Given the description of an element on the screen output the (x, y) to click on. 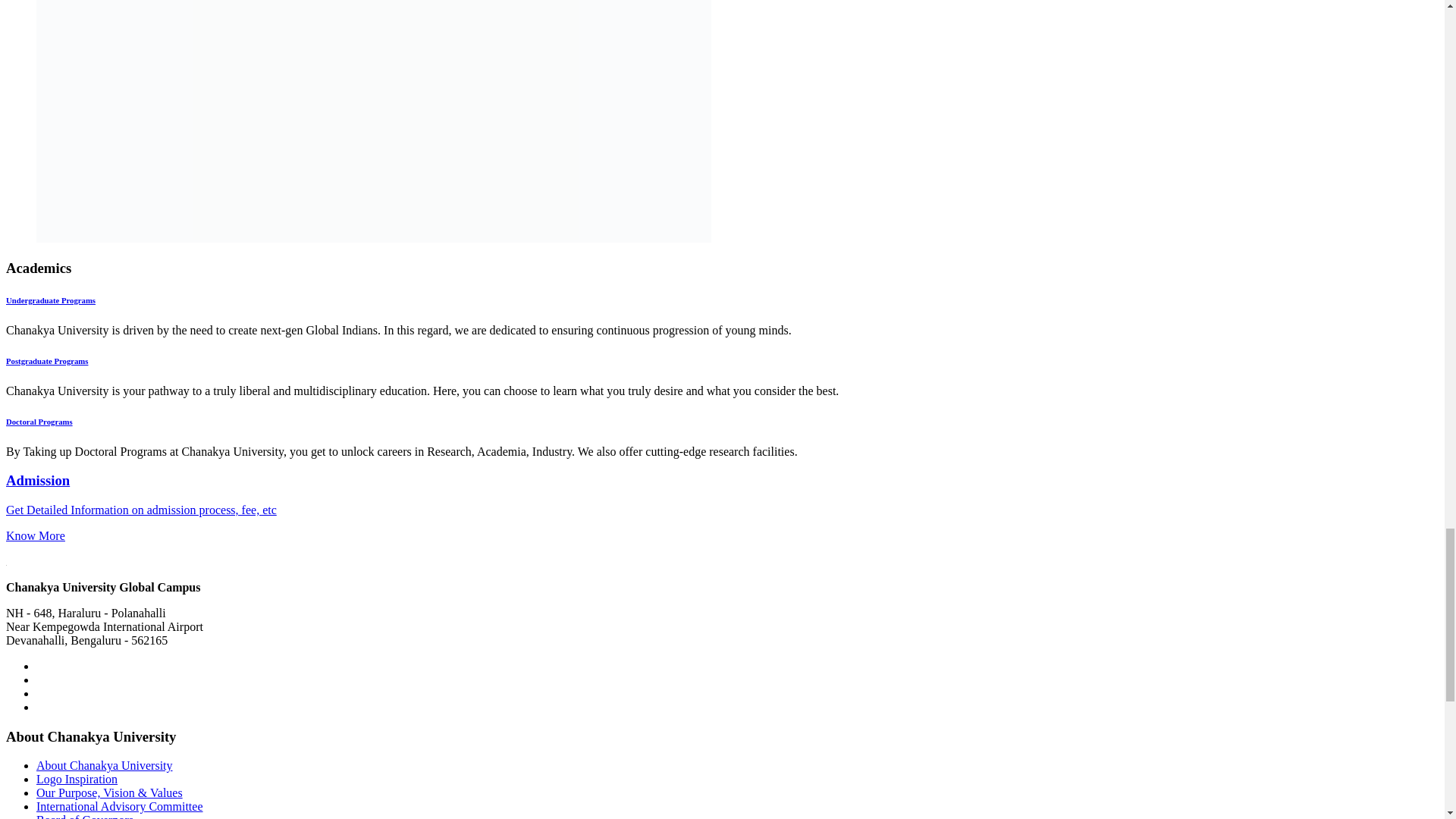
Postgraduate Programs (46, 360)
Doctoral Programs (38, 420)
Undergraduate Programs (50, 299)
